Given the description of an element on the screen output the (x, y) to click on. 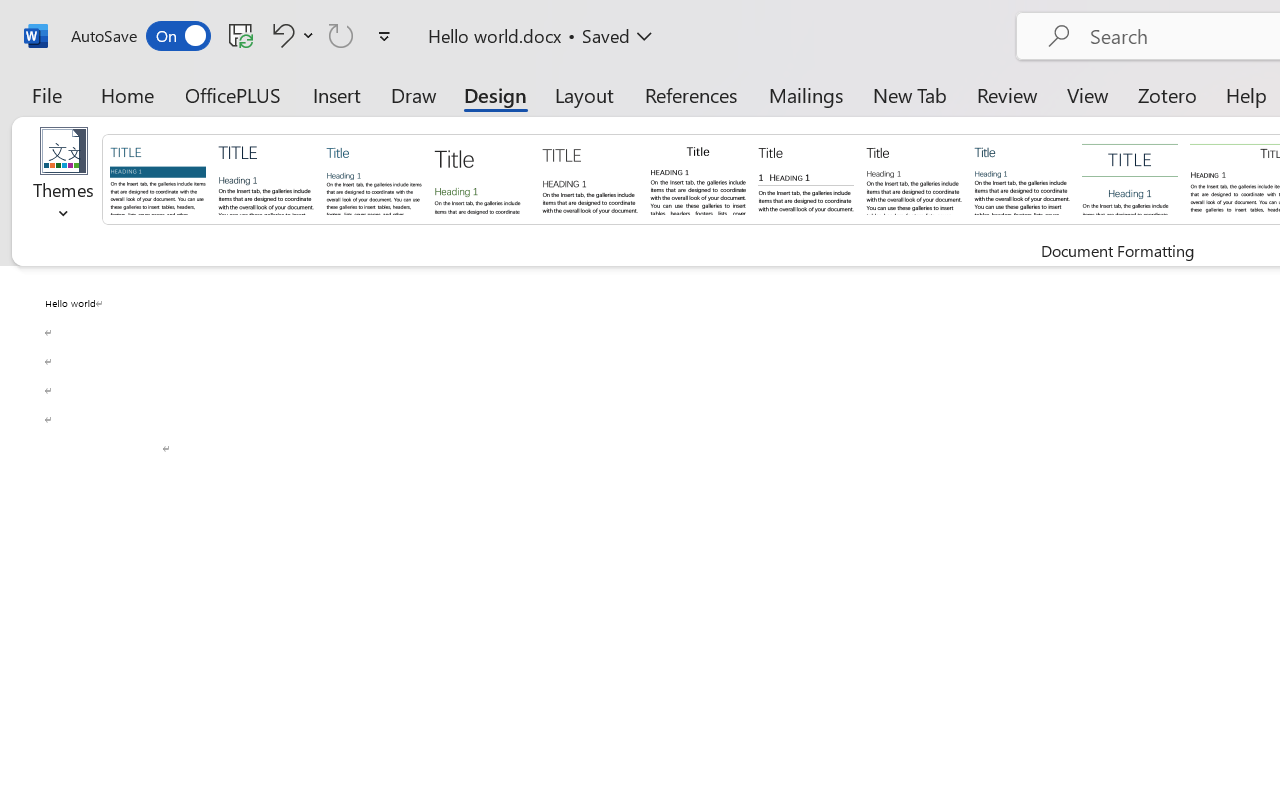
Document (157, 178)
File Tab (46, 94)
Centered (1130, 178)
Black & White (Numbered) (806, 178)
Review (1007, 94)
Design (495, 94)
New Tab (909, 94)
More Options (308, 35)
Basic (Simple) (373, 178)
Black & White (Word 2013) (913, 178)
Black & White (Capitalized) (589, 178)
Customize Quick Access Toolbar (384, 35)
Layout (584, 94)
Themes (63, 179)
